Given the description of an element on the screen output the (x, y) to click on. 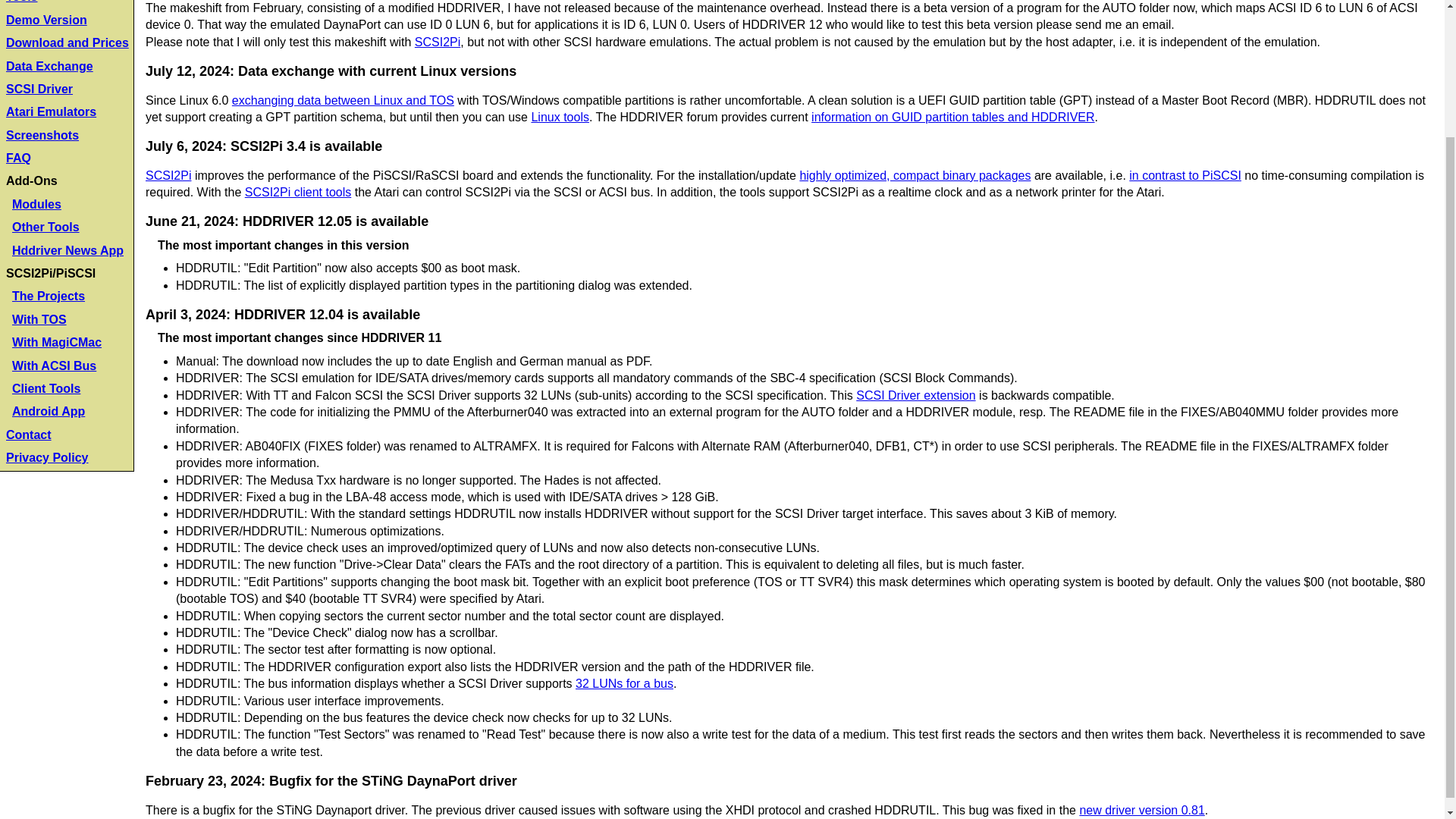
Tools (21, 1)
SCSI2Pi (167, 174)
Hddriver News App (67, 250)
With TOS (38, 318)
Client Tools (45, 388)
FAQ (17, 157)
Contact (27, 434)
Screenshots (41, 134)
With MagiCMac (56, 341)
Privacy Policy (46, 457)
Other Tools (45, 226)
Linux tools (560, 116)
The Projects (47, 295)
Android App (47, 410)
information on GUID partition tables and HDDRIVER (952, 116)
